Given the description of an element on the screen output the (x, y) to click on. 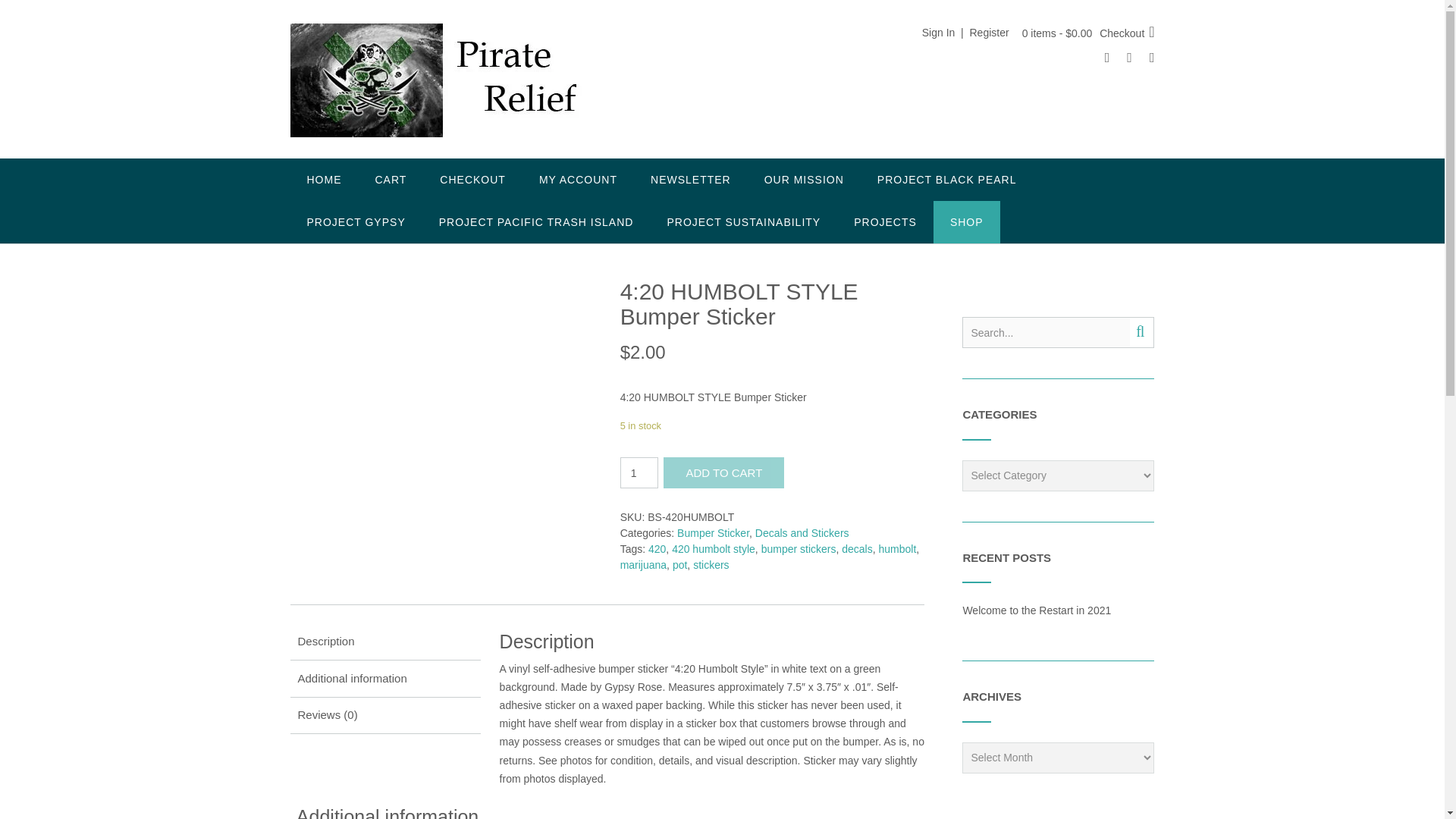
Decals and Stickers (801, 532)
PROJECT GYPSY (355, 221)
Additional information (384, 678)
PROJECTS (885, 221)
PROJECT SUSTAINABILITY (743, 221)
420 (656, 548)
1 (639, 472)
Description (384, 642)
decals (856, 548)
NEWSLETTER (690, 179)
